Given the description of an element on the screen output the (x, y) to click on. 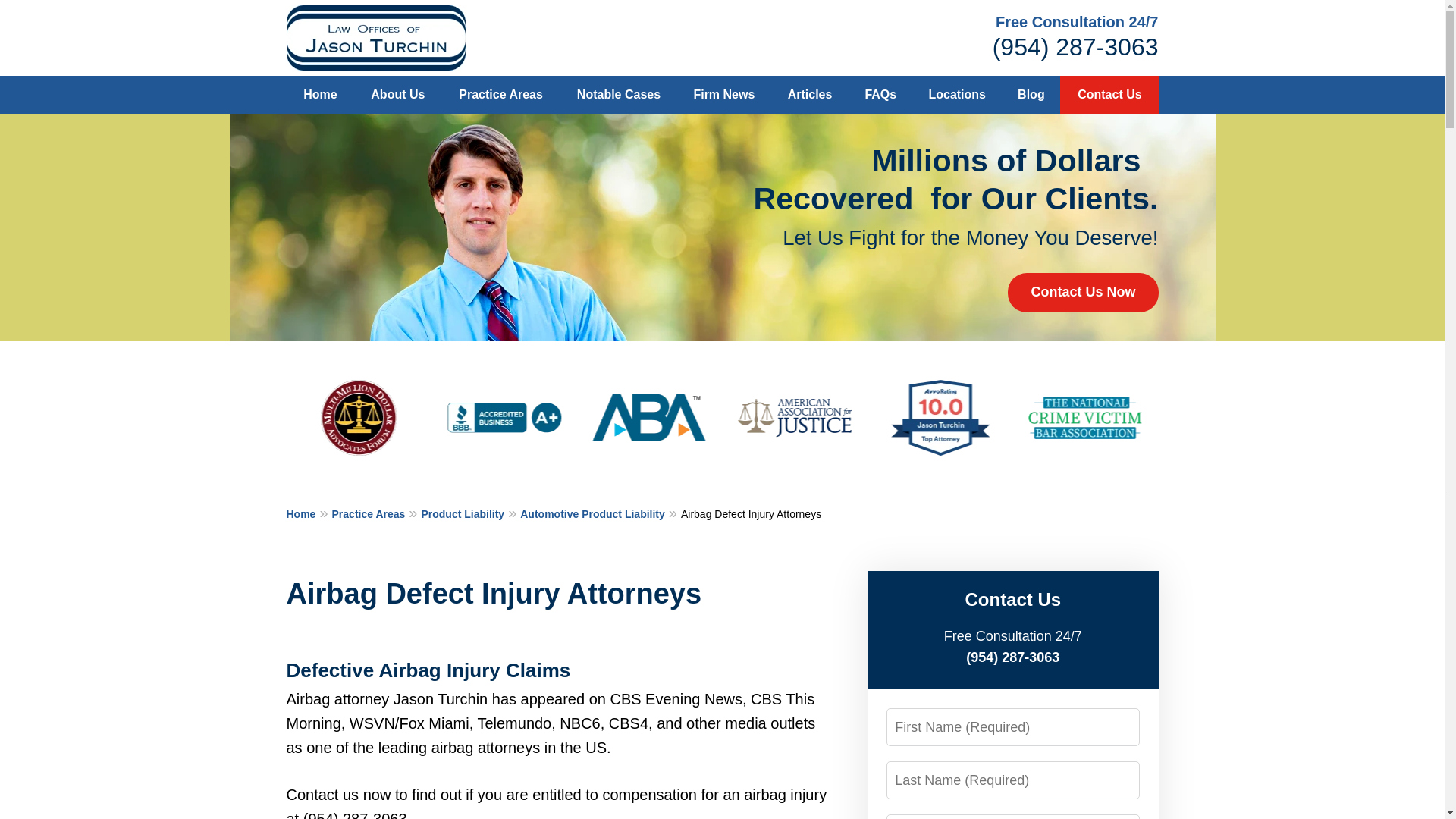
Product Liability (469, 513)
Contact Us (1108, 94)
Firm News (724, 94)
Practice Areas (376, 513)
Notable Cases (618, 94)
FAQs (880, 94)
Practice Areas (500, 94)
Automotive Product Liability (600, 513)
Locations (957, 94)
Contact Us Now (1082, 292)
